Given the description of an element on the screen output the (x, y) to click on. 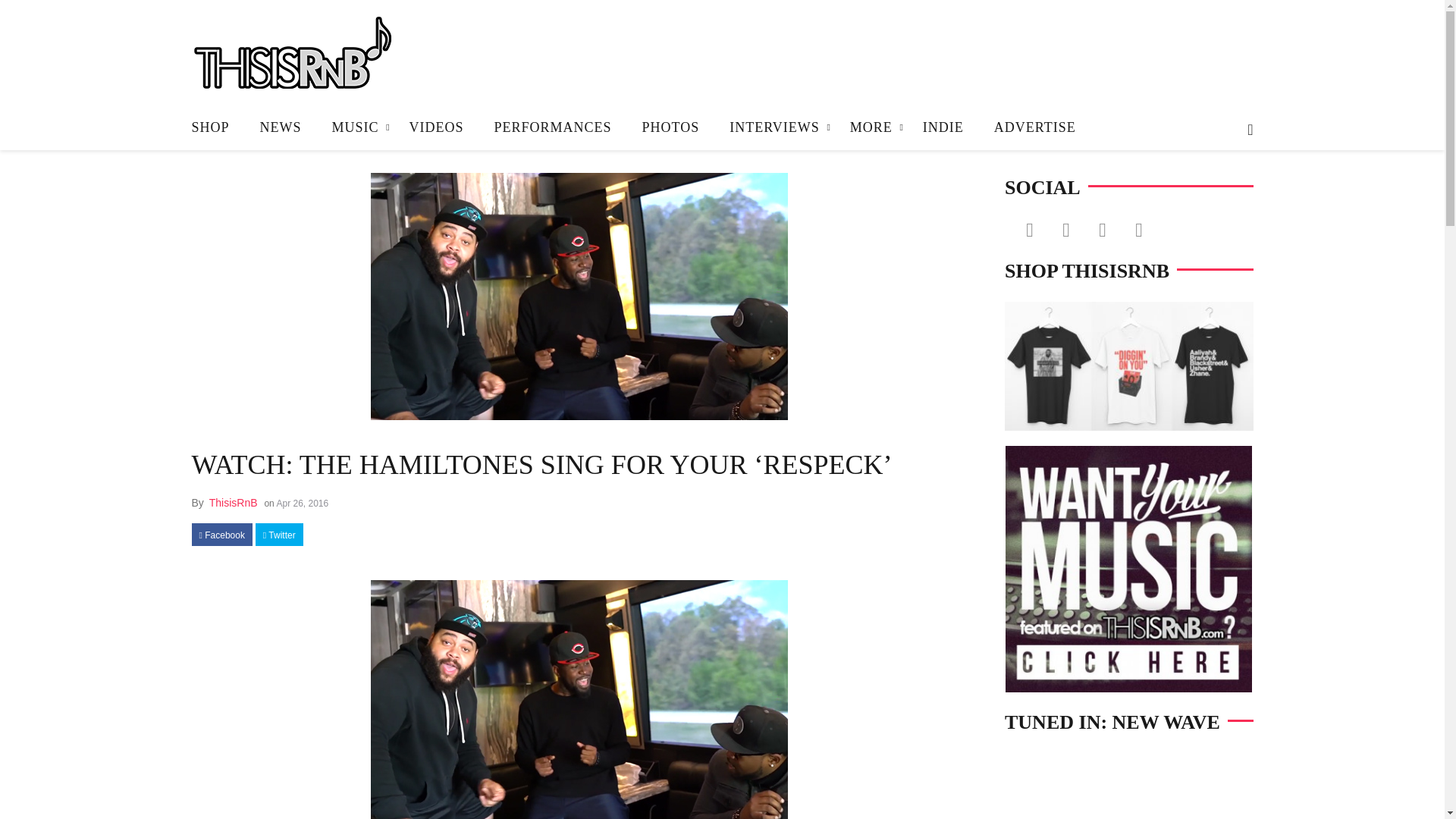
SHOP (217, 126)
NEWS (280, 126)
MUSIC (355, 126)
facebook (221, 534)
ion-social-youtube (1138, 229)
twitter (279, 534)
ion-social-instagram (1101, 229)
ion-social-facebook (1029, 229)
ion-social-twitter (1065, 229)
